Given the description of an element on the screen output the (x, y) to click on. 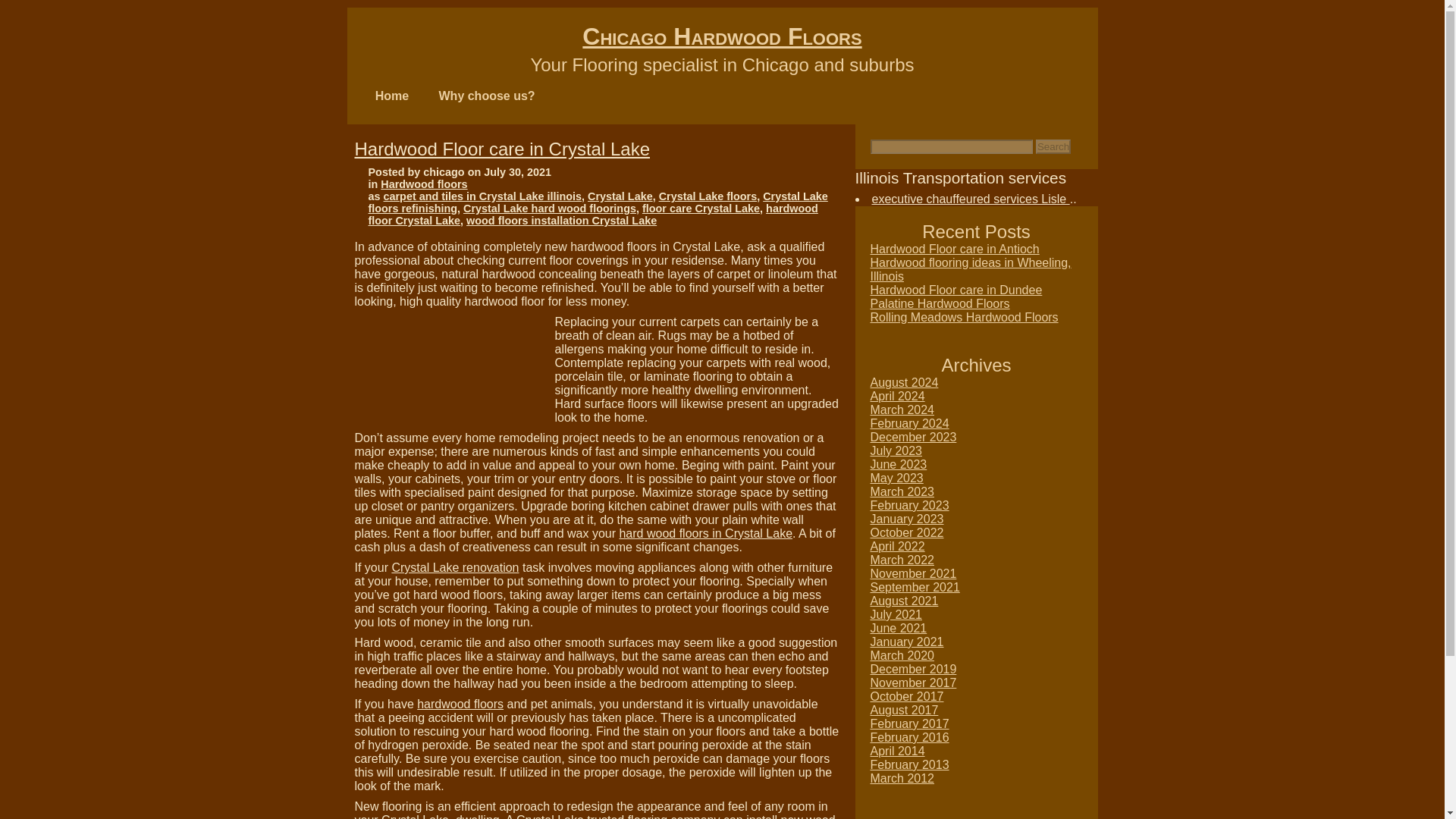
Crystal Lake hard wood floorings (549, 208)
Search (1052, 146)
hardwood floor Crystal Lake (593, 214)
February 2024 (909, 422)
Crystal Lake (620, 196)
July 2023 (896, 450)
hardwood floors (459, 703)
February 2023 (909, 504)
executive chauffeured services Lisle (971, 198)
